Given the description of an element on the screen output the (x, y) to click on. 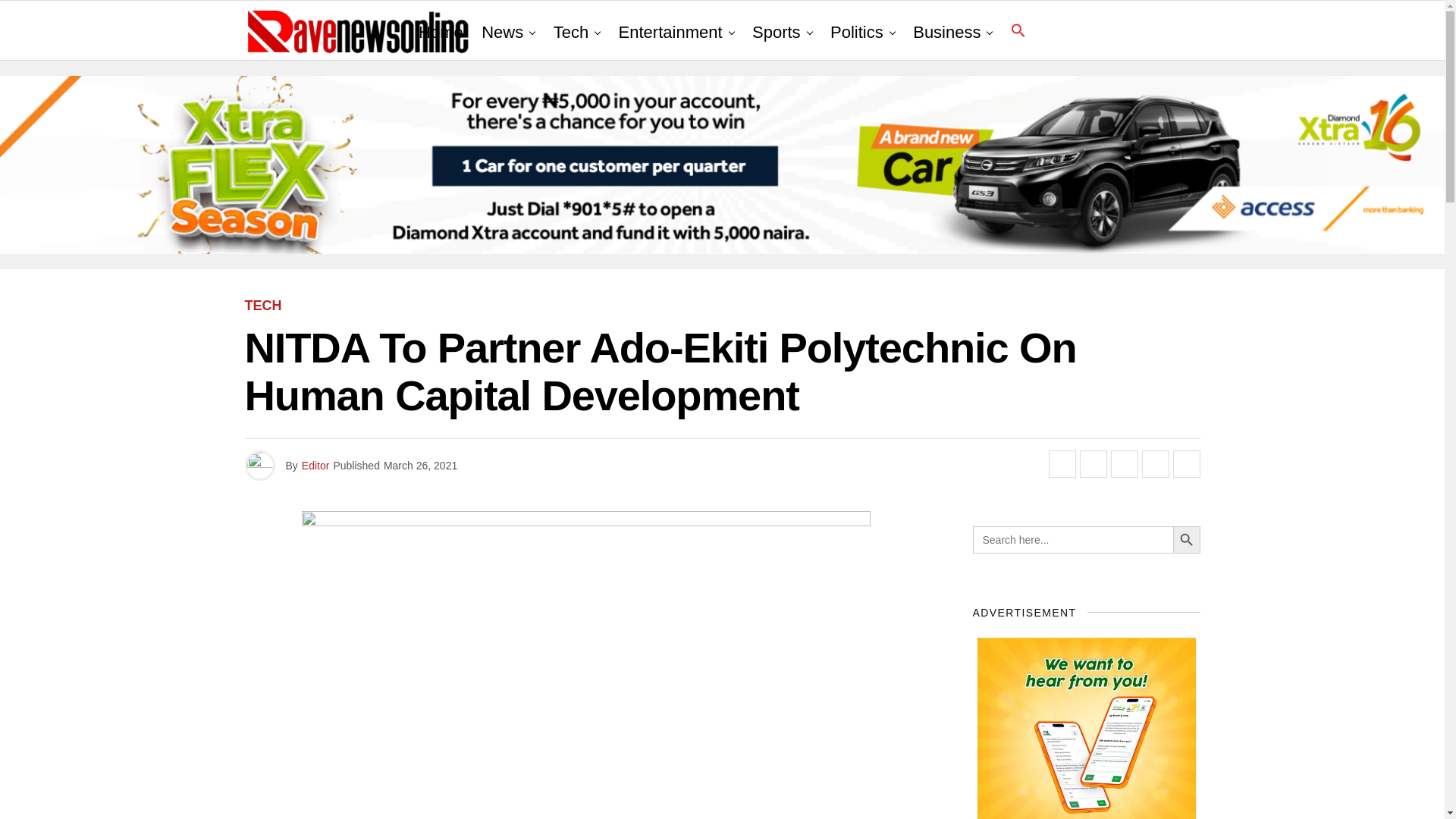
Entertainment (670, 32)
Sports (776, 32)
Home (440, 32)
Politics (856, 32)
Share on Facebook (1061, 463)
Posts by Editor (315, 465)
News (502, 32)
Tweet This Post (1093, 463)
